Given the description of an element on the screen output the (x, y) to click on. 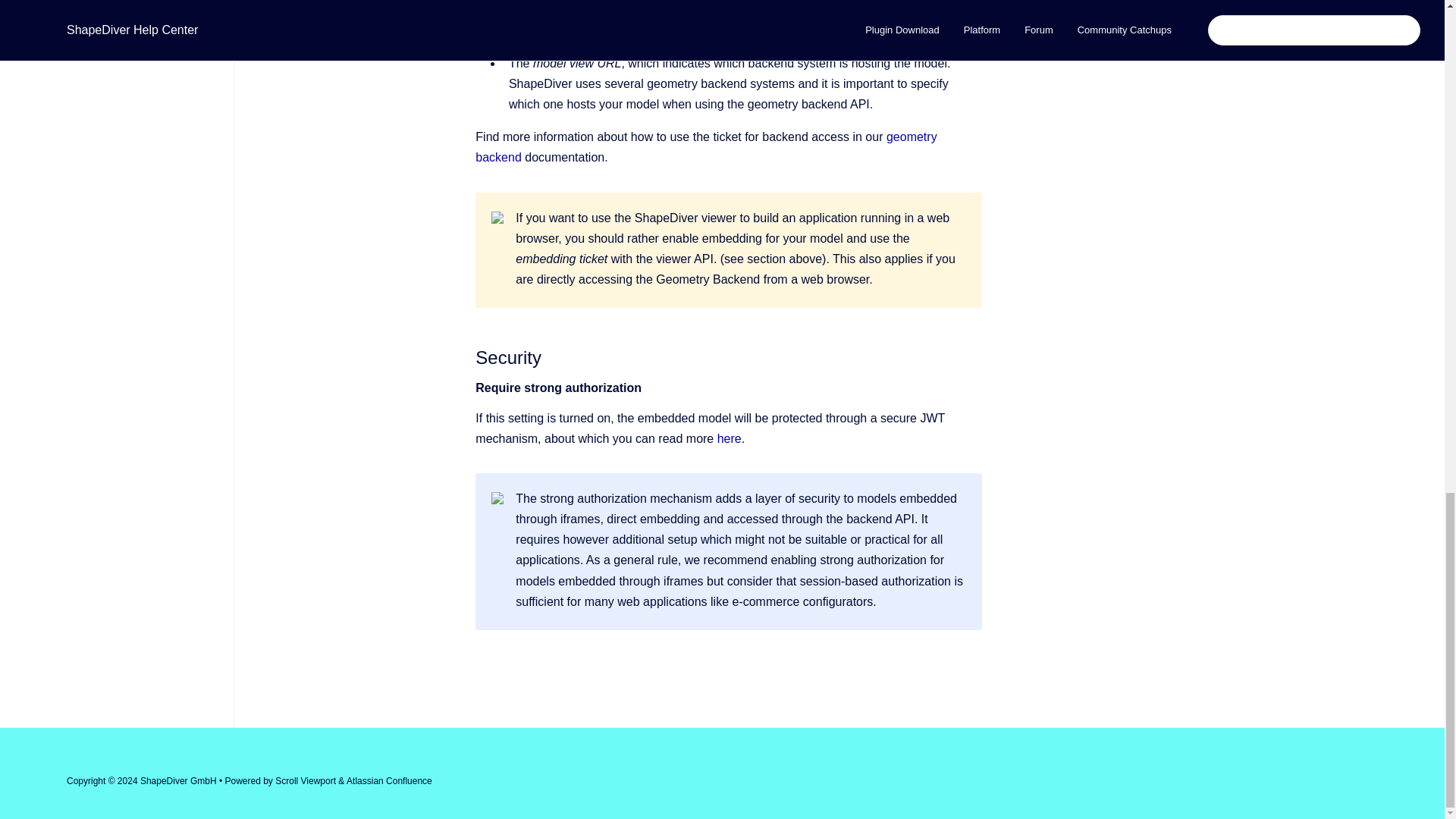
geometry backend (706, 146)
Scroll Viewport (306, 780)
Atlassian Confluence (389, 780)
here (729, 438)
